Given the description of an element on the screen output the (x, y) to click on. 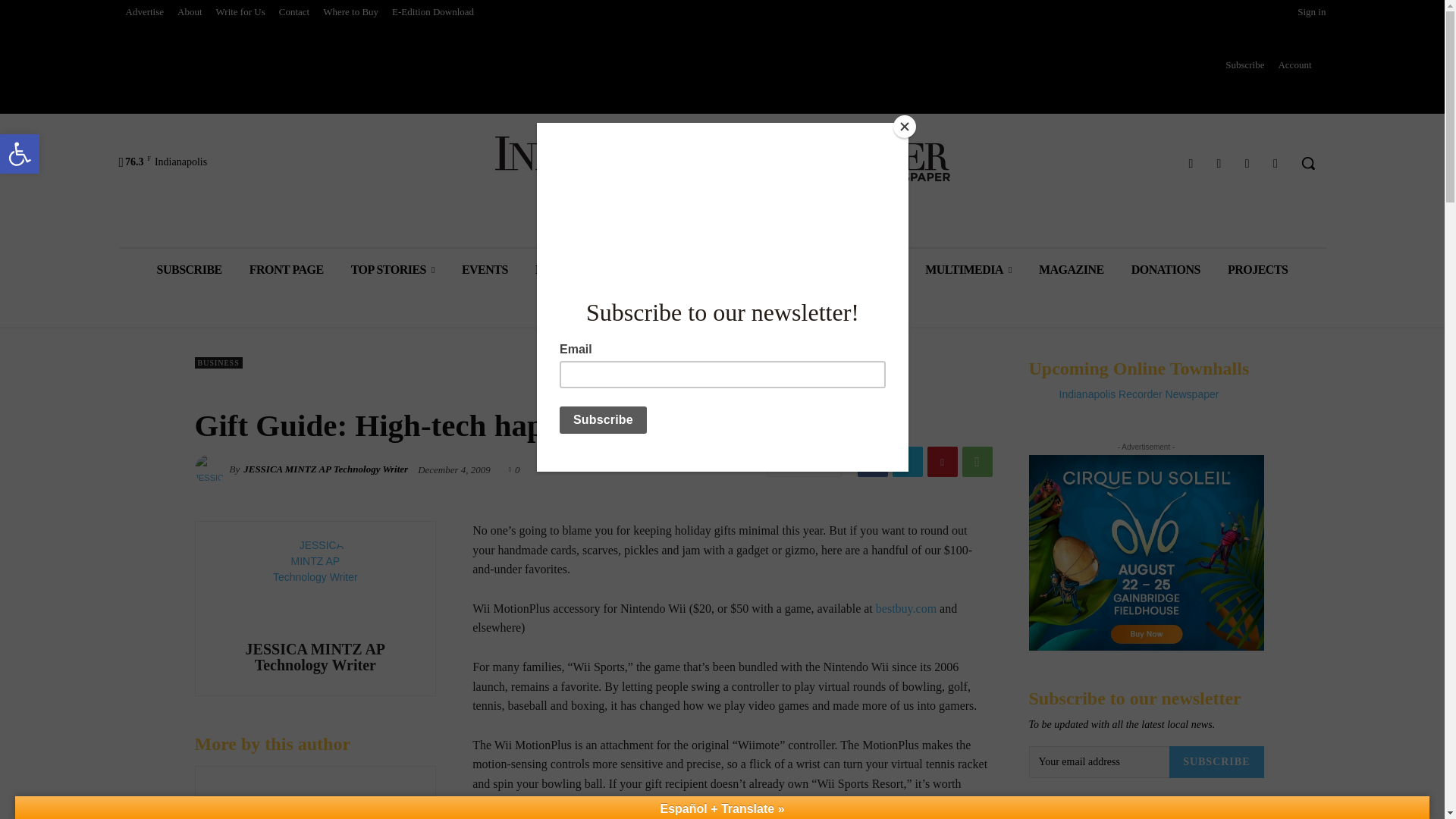
Youtube (1275, 163)
Facebook (19, 153)
Accessibility Tools (1190, 163)
Accessibility Tools (19, 153)
Instagram (19, 153)
Twitter (1218, 163)
